Given the description of an element on the screen output the (x, y) to click on. 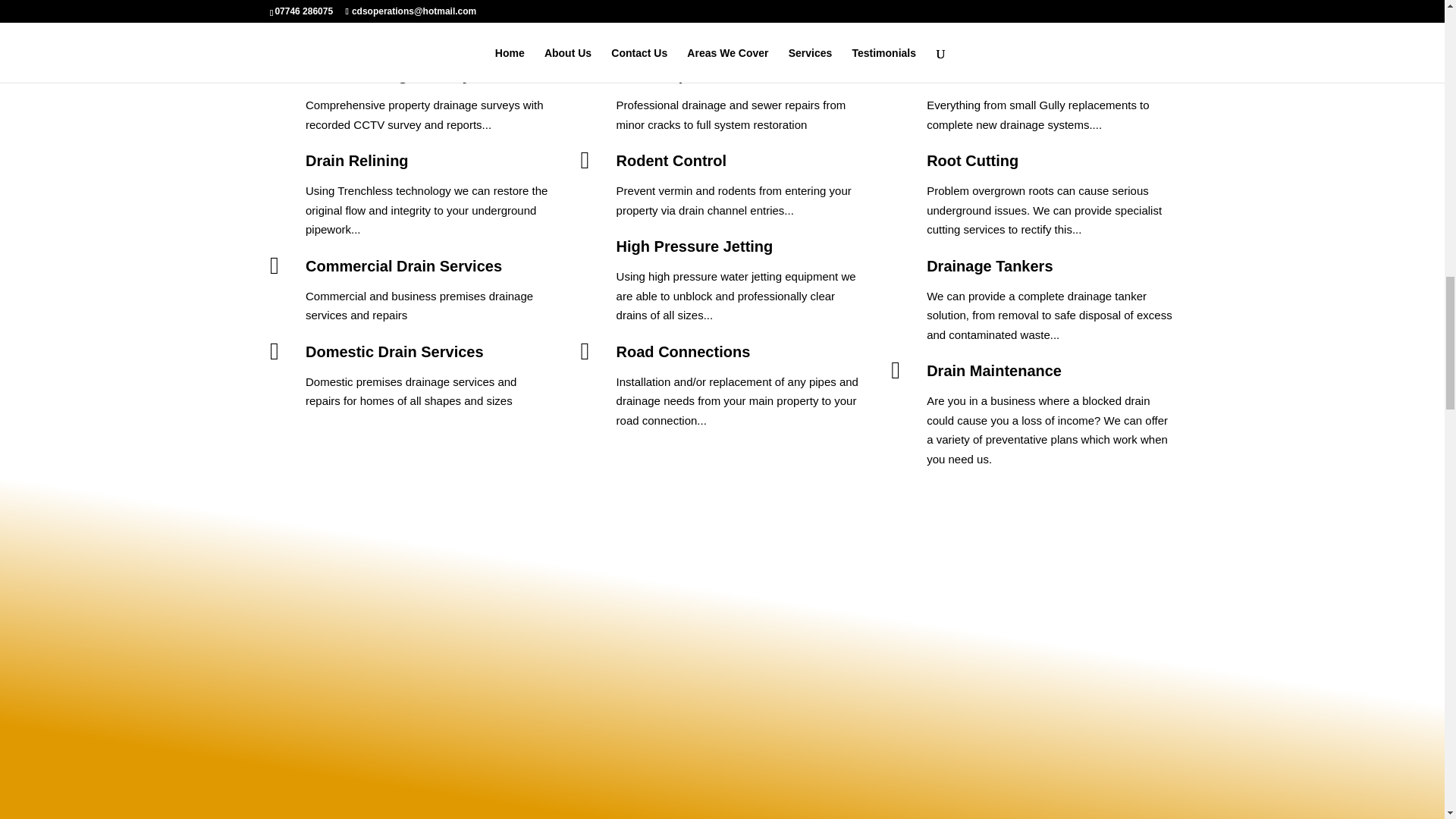
Drain Repairs (664, 74)
Drain Maintenance (993, 370)
Root Cutting (971, 160)
Domestic Drain Services (394, 351)
Commercial Drain Services (403, 265)
High Pressure Jetting (694, 246)
Drainage Tankers (989, 265)
Drain Relining (357, 160)
Excavations (970, 74)
Rodent Control (670, 160)
Road Connections (683, 351)
CCTV Drainage Surveys (392, 74)
